Given the description of an element on the screen output the (x, y) to click on. 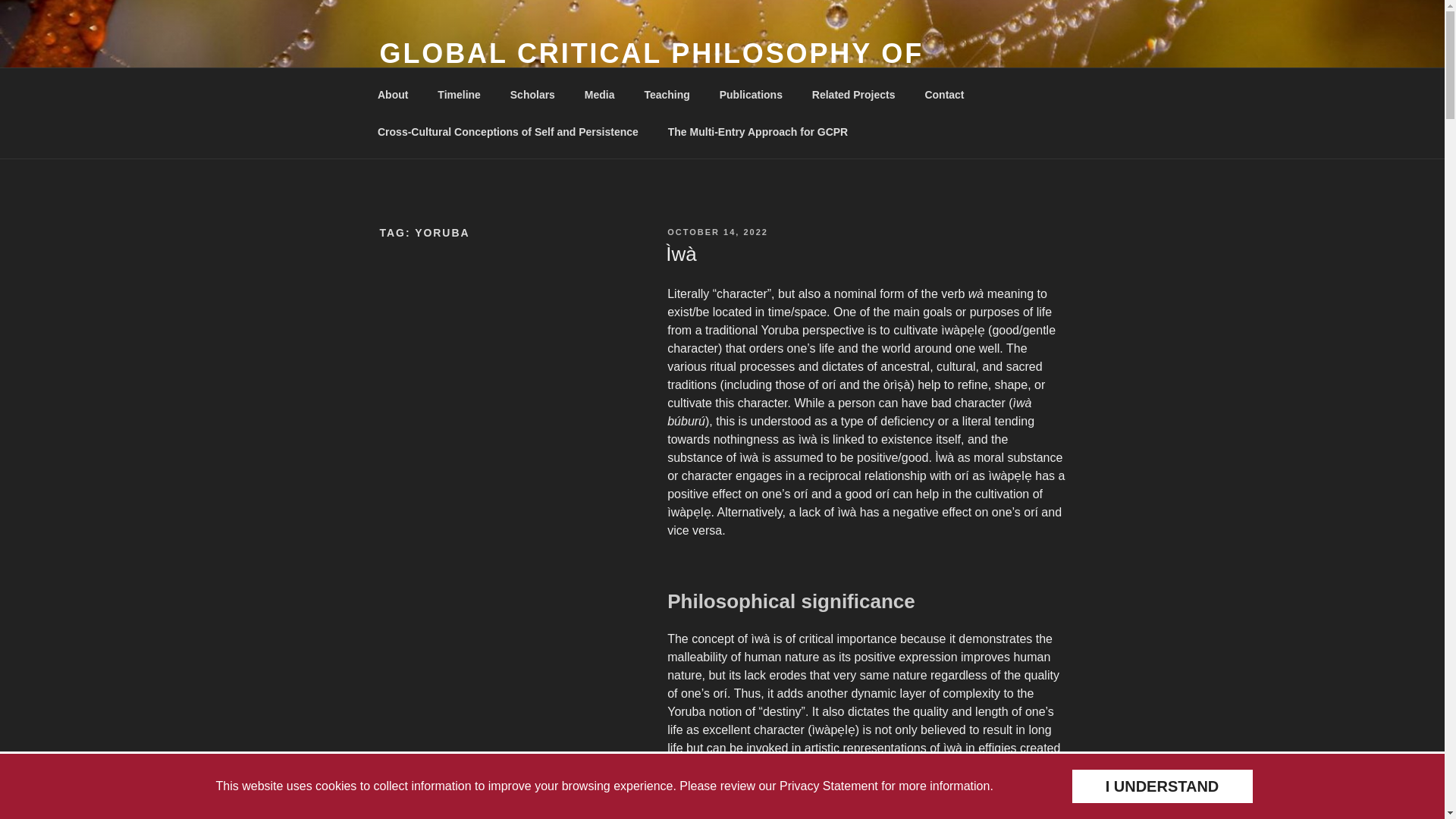
I UNDERSTAND (1161, 786)
GLOBAL CRITICAL PHILOSOPHY OF RELIGION (650, 70)
Teaching (666, 94)
Contact (943, 94)
Media (598, 94)
Related Projects (852, 94)
Cross-Cultural Conceptions of Self and Persistence (507, 131)
Timeline (460, 94)
Privacy Statement (827, 785)
OCTOBER 14, 2022 (717, 231)
